Given the description of an element on the screen output the (x, y) to click on. 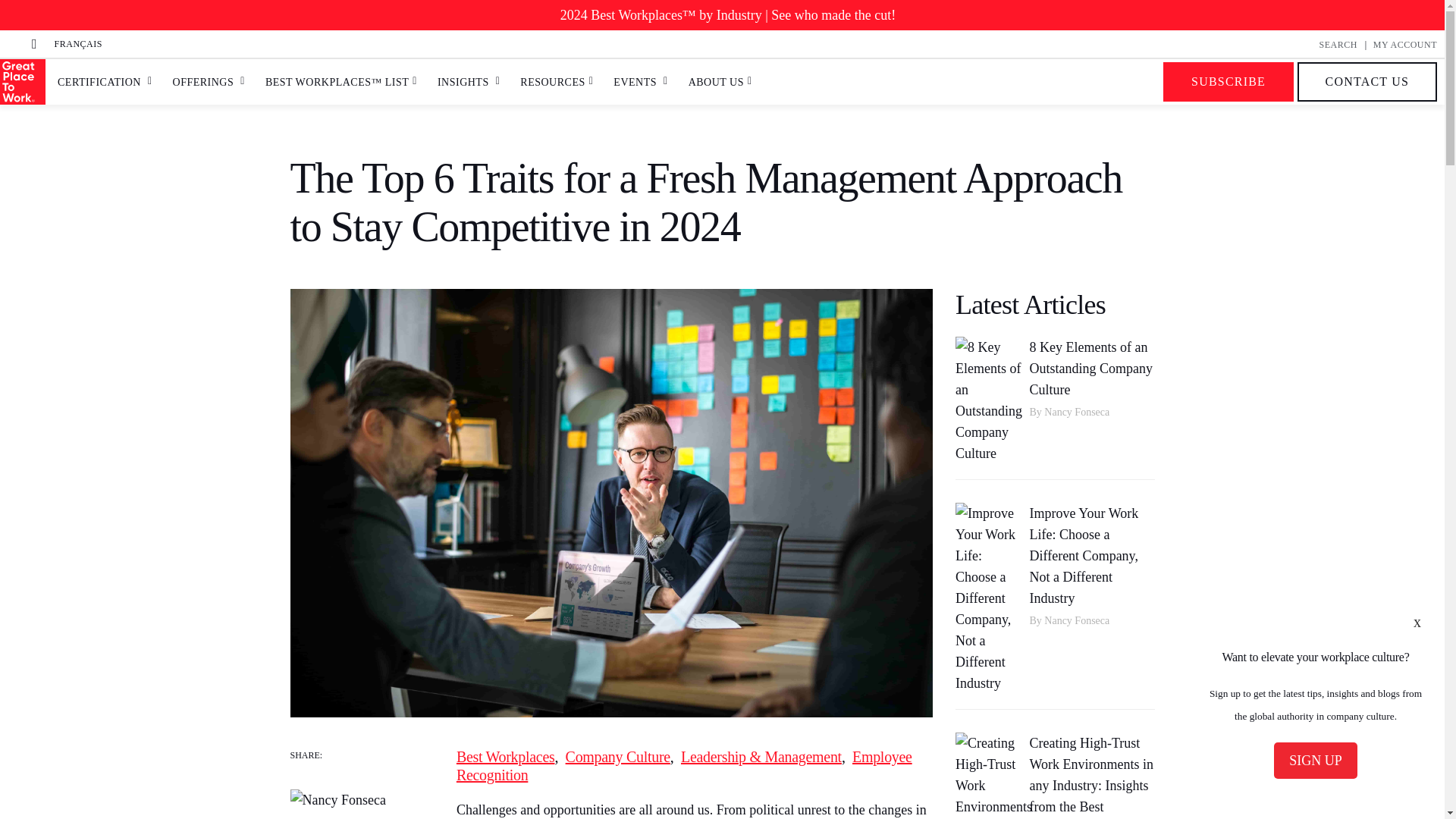
SEARCH (1337, 43)
MY ACCOUNT (1405, 43)
RESOURCES (552, 81)
